Given the description of an element on the screen output the (x, y) to click on. 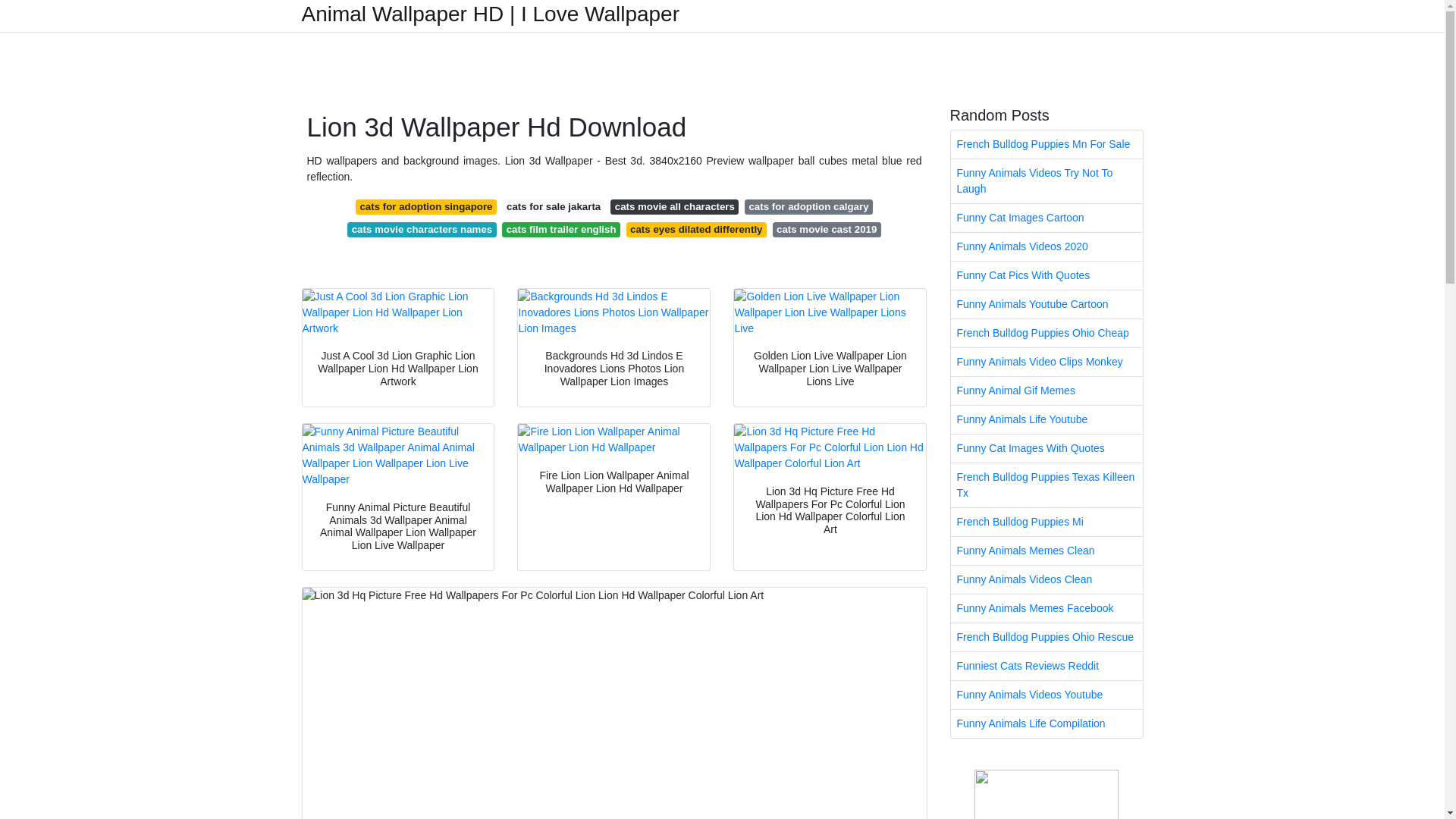
cats for adoption singapore (425, 206)
cats movie characters names (421, 229)
Funny Cat Images Cartoon (1046, 217)
French Bulldog Puppies Mn For Sale (1046, 144)
Funny Animals Videos Try Not To Laugh (1046, 180)
cats for adoption calgary (808, 206)
Funny Cat Pics With Quotes (1046, 275)
cats for sale jakarta (553, 206)
cats movie all characters (674, 206)
Funny Animals Videos 2020 (1046, 246)
French Bulldog Puppies Ohio Cheap (1046, 333)
cats movie cast 2019 (826, 229)
Funny Animal Gif Memes (1046, 390)
cats eyes dilated differently (696, 229)
cats film trailer english (561, 229)
